Given the description of an element on the screen output the (x, y) to click on. 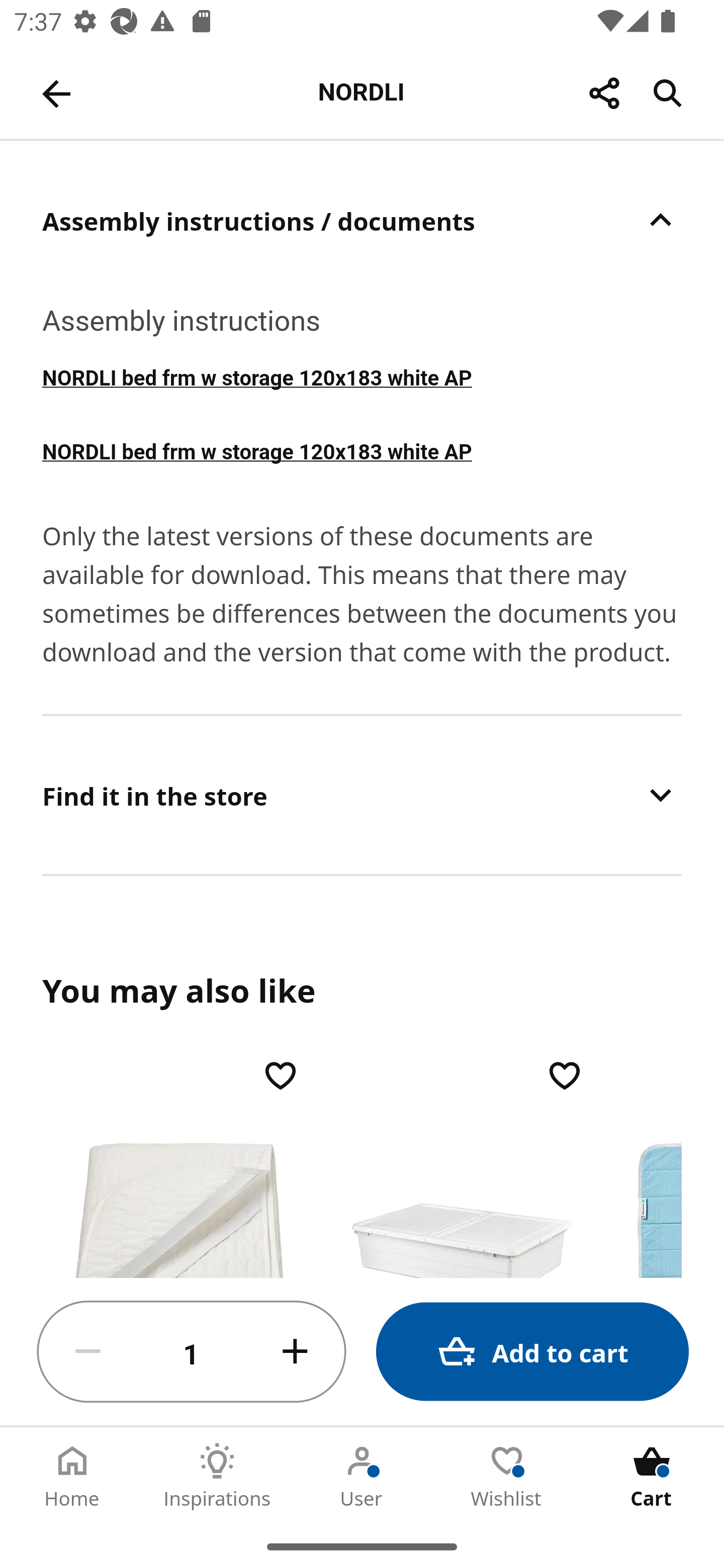
Assembly instructions / documents (361, 219)
NORDLI bed frm w storage 120x183 white AP (361, 376)
NORDLI bed frm w storage 120x183 white AP (361, 449)
Find it in the store (361, 794)
Add to cart (531, 1352)
1 (191, 1352)
Home
Tab 1 of 5 (72, 1476)
Inspirations
Tab 2 of 5 (216, 1476)
User
Tab 3 of 5 (361, 1476)
Wishlist
Tab 4 of 5 (506, 1476)
Cart
Tab 5 of 5 (651, 1476)
